Given the description of an element on the screen output the (x, y) to click on. 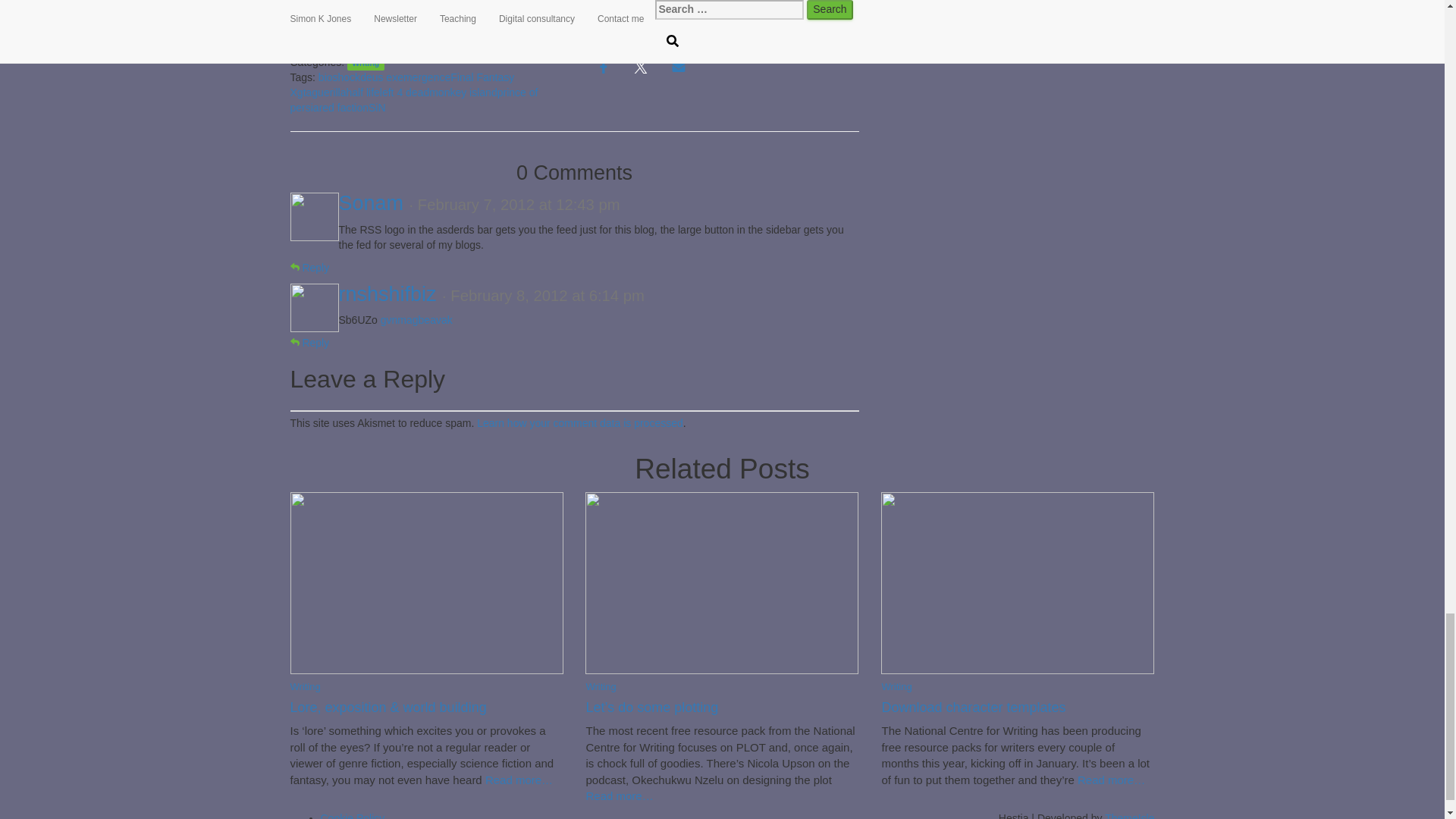
gvnmagbeavak (416, 319)
View all posts in Writing (895, 686)
View all posts in Writing (304, 686)
rnshshifbiz (386, 293)
guerilla (328, 92)
Learn how your comment data is processed (579, 422)
Reply (309, 267)
emergence (423, 77)
deus ex (378, 77)
Writing (365, 62)
Sonam (370, 202)
SiN (376, 107)
monkey island (463, 92)
prince of persia (413, 99)
